Given the description of an element on the screen output the (x, y) to click on. 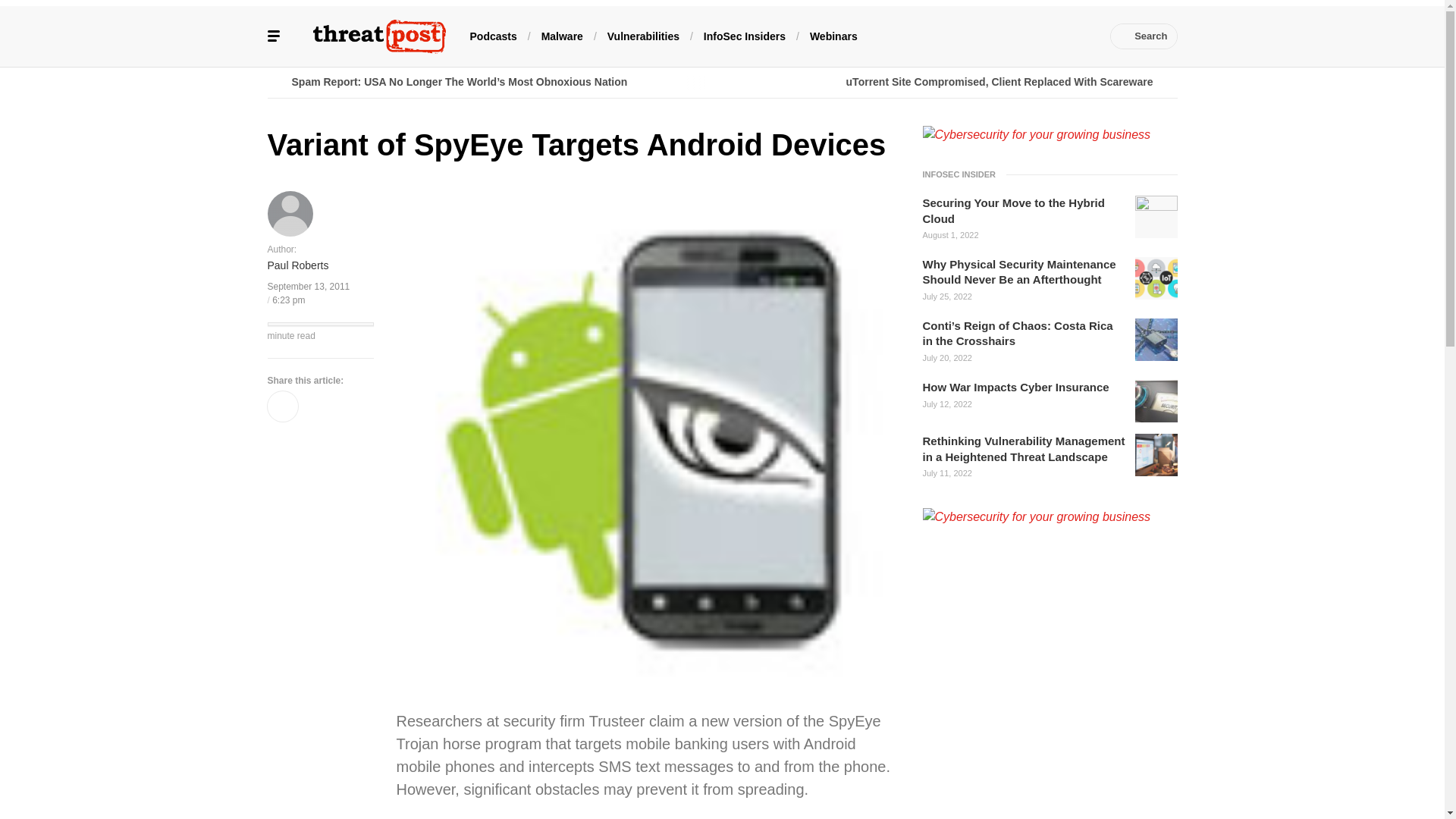
LinkedIn (989, 36)
Instagram (1057, 36)
InfoSec Insiders (744, 35)
Threatpost (379, 36)
Paul Roberts (297, 266)
Securing Your Move to the Hybrid Cloud (1023, 210)
RSS (1080, 36)
Webinars (833, 35)
YouTube (1012, 36)
Twitter (966, 36)
Android Spyeye (861, 817)
Malware (562, 35)
Feedly (1034, 36)
Facebook (944, 36)
